Given the description of an element on the screen output the (x, y) to click on. 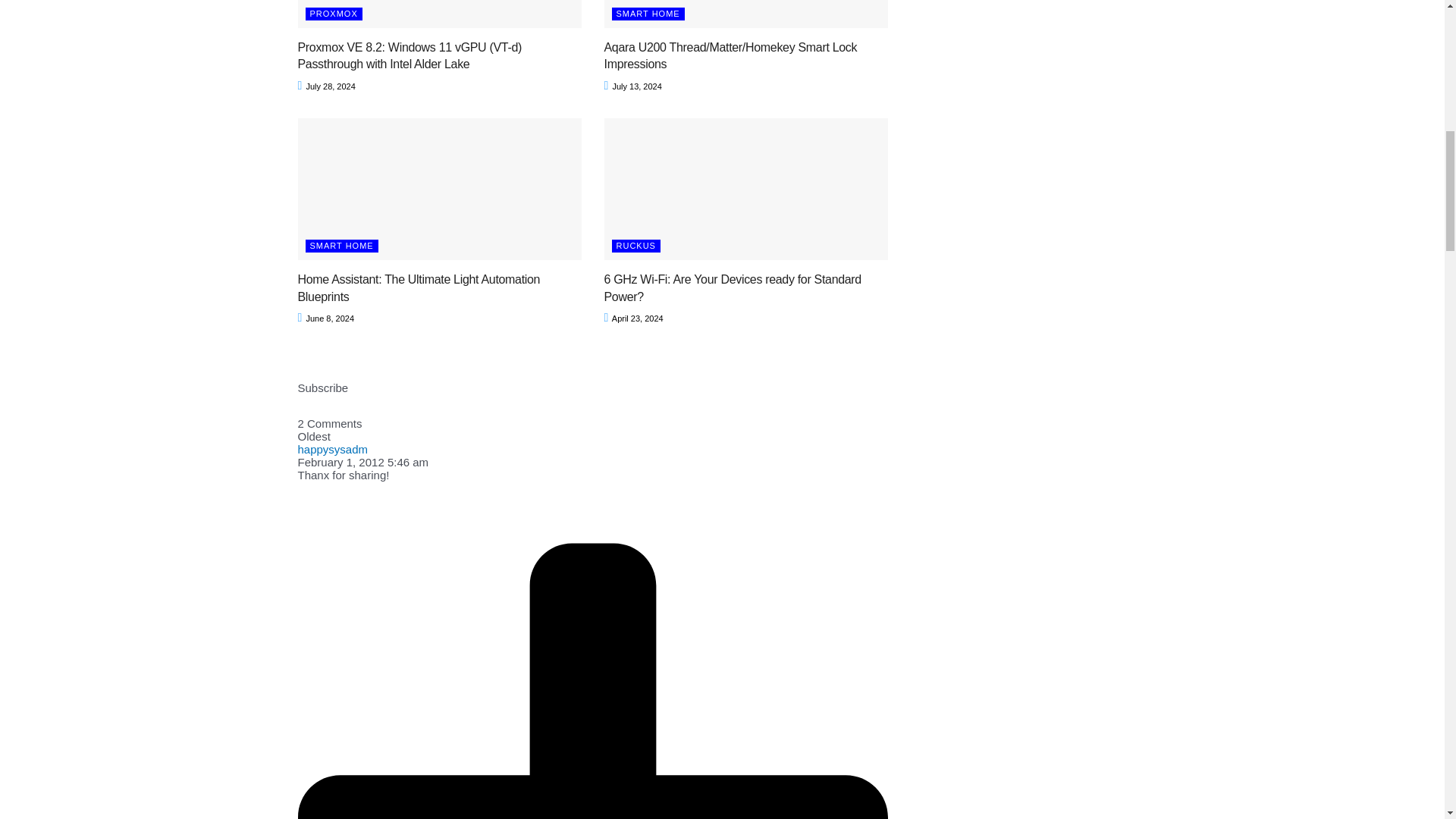
PROXMOX (332, 13)
RUCKUS (635, 245)
July 13, 2024 (632, 85)
June 8, 2024 (325, 317)
July 28, 2024 (326, 85)
6 GHz Wi-Fi: Are Your Devices ready for Standard Power? (732, 287)
SMART HOME (647, 13)
SMART HOME (340, 245)
Home Assistant: The Ultimate Light Automation Blueprints (418, 287)
April 23, 2024 (633, 317)
